Given the description of an element on the screen output the (x, y) to click on. 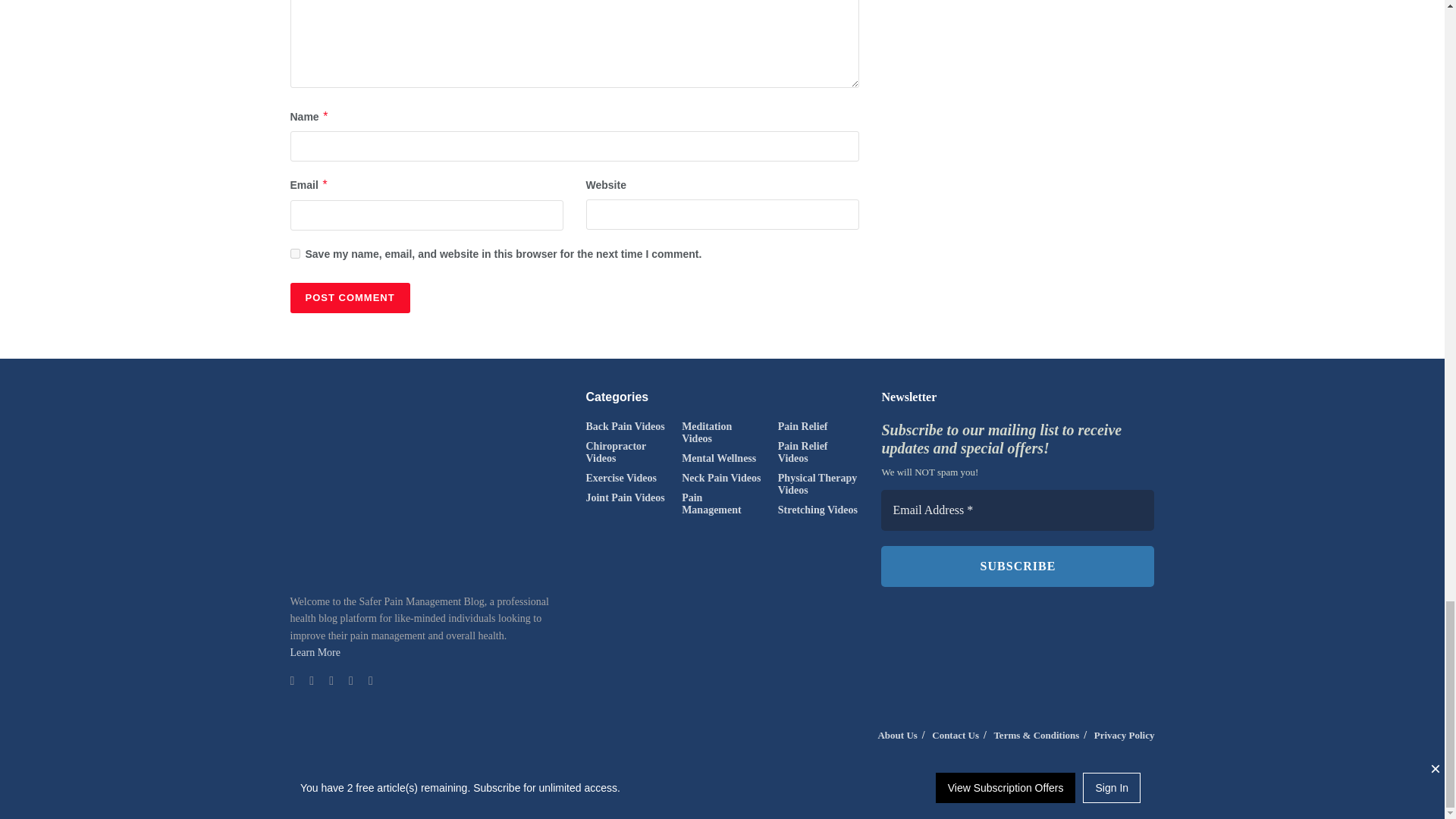
Subscribe (1017, 566)
Post Comment (349, 297)
yes (294, 253)
